Given the description of an element on the screen output the (x, y) to click on. 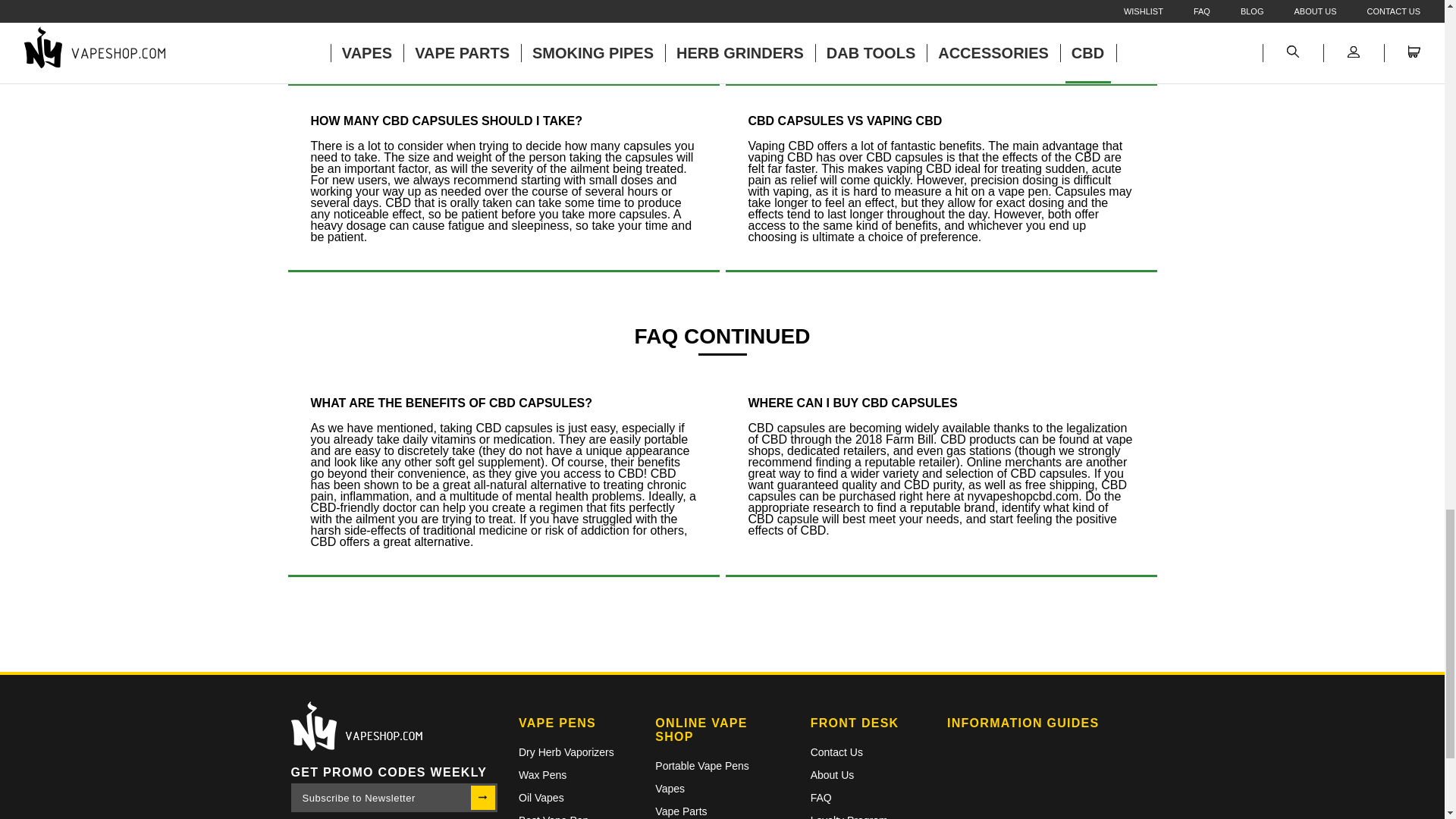
Home Page (394, 726)
